Given the description of an element on the screen output the (x, y) to click on. 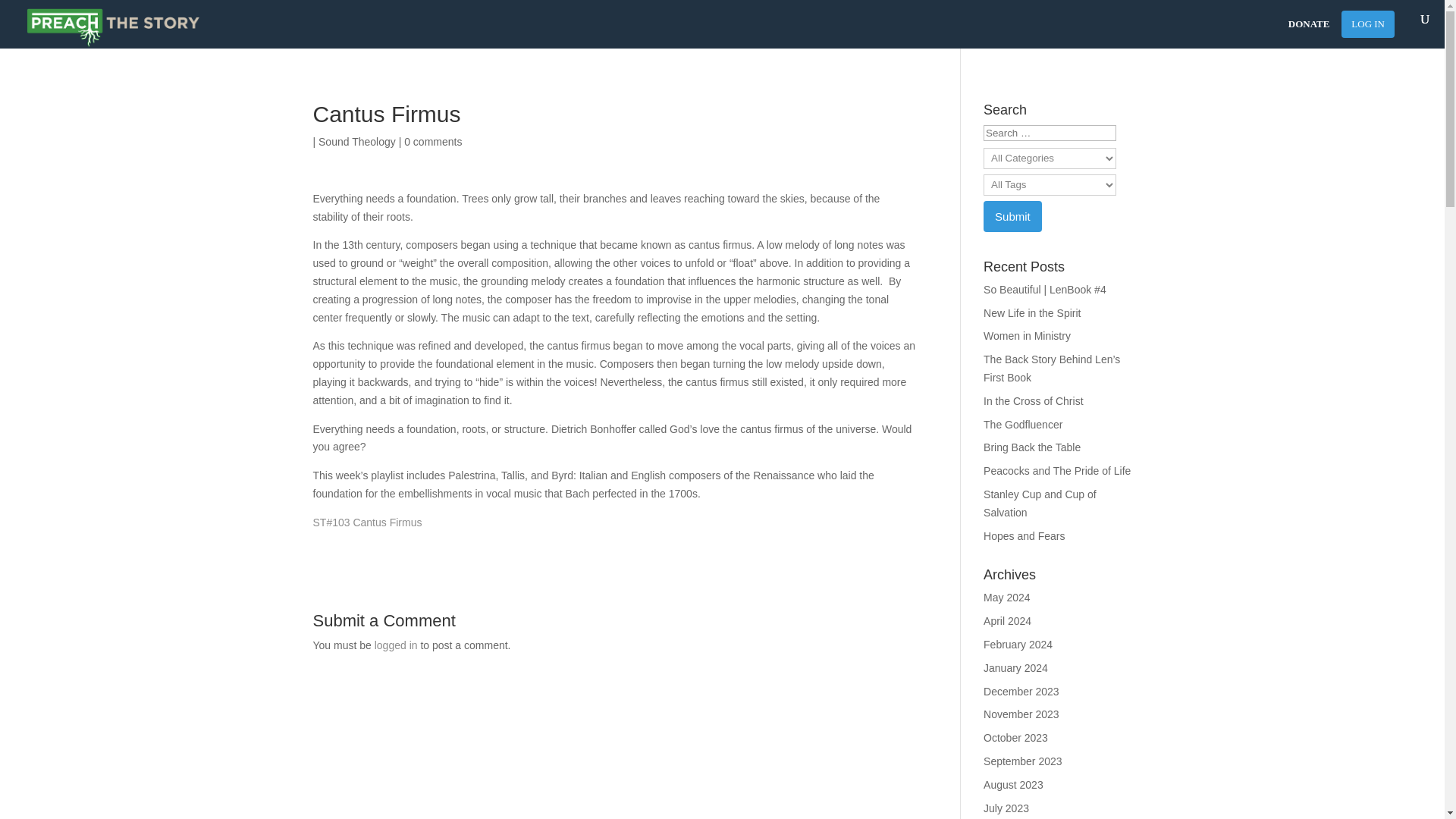
logged in (395, 645)
LOG IN (1367, 23)
Stanley Cup and Cup of Salvation (1040, 503)
December 2023 (1021, 691)
0 comments (432, 141)
New Life in the Spirit (1032, 313)
April 2024 (1007, 621)
Submit (1013, 215)
Hopes and Fears (1024, 535)
Peacocks and The Pride of Life (1057, 470)
